Given the description of an element on the screen output the (x, y) to click on. 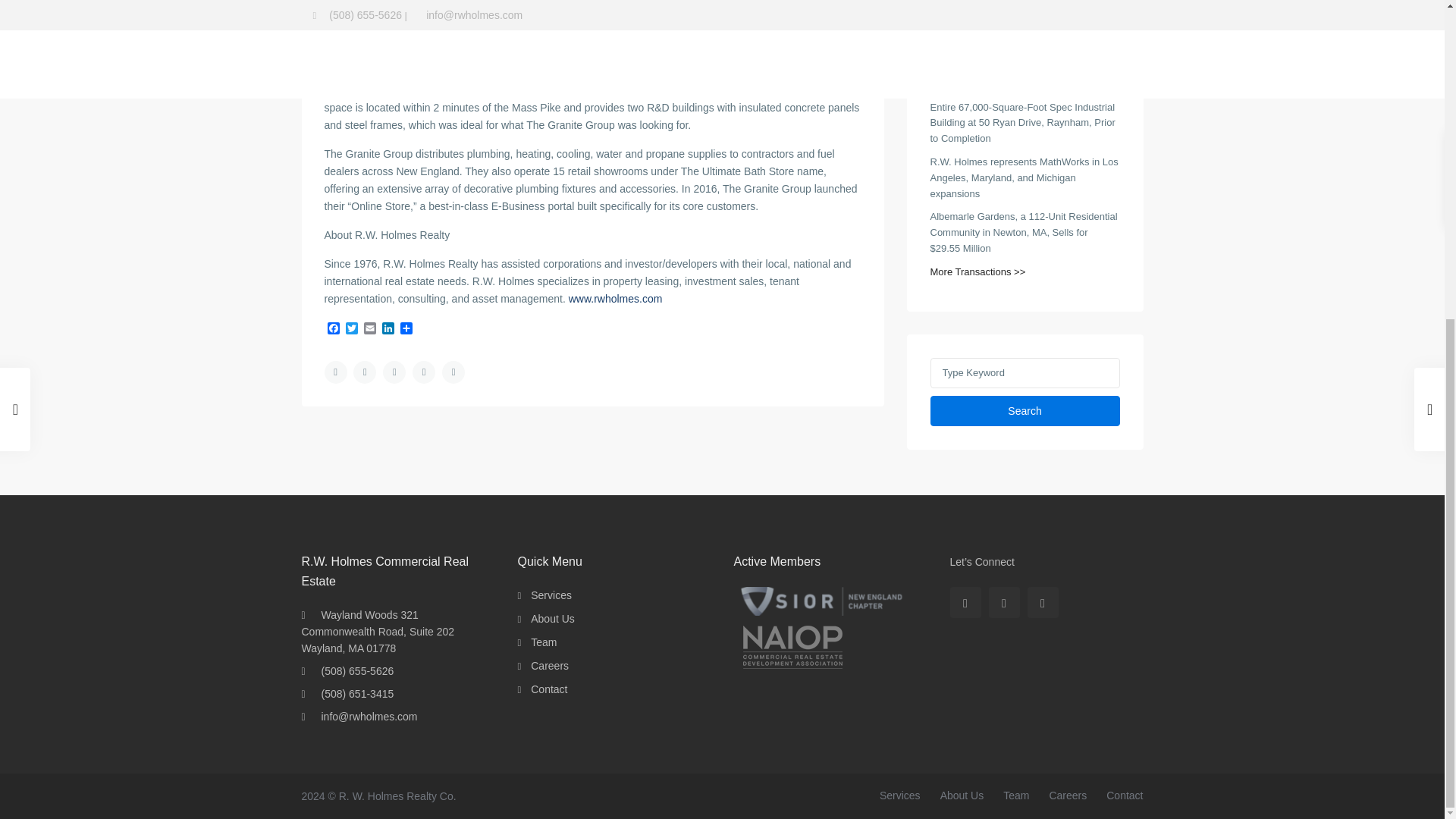
LinkedIn (387, 329)
About (962, 795)
Twitter (351, 329)
Team (543, 642)
Services (551, 594)
Facebook (333, 329)
Careers (1067, 795)
Services (899, 795)
Contact (549, 689)
Email (369, 329)
Careers (550, 665)
About (553, 618)
Contact (1124, 795)
Team (1016, 795)
